Given the description of an element on the screen output the (x, y) to click on. 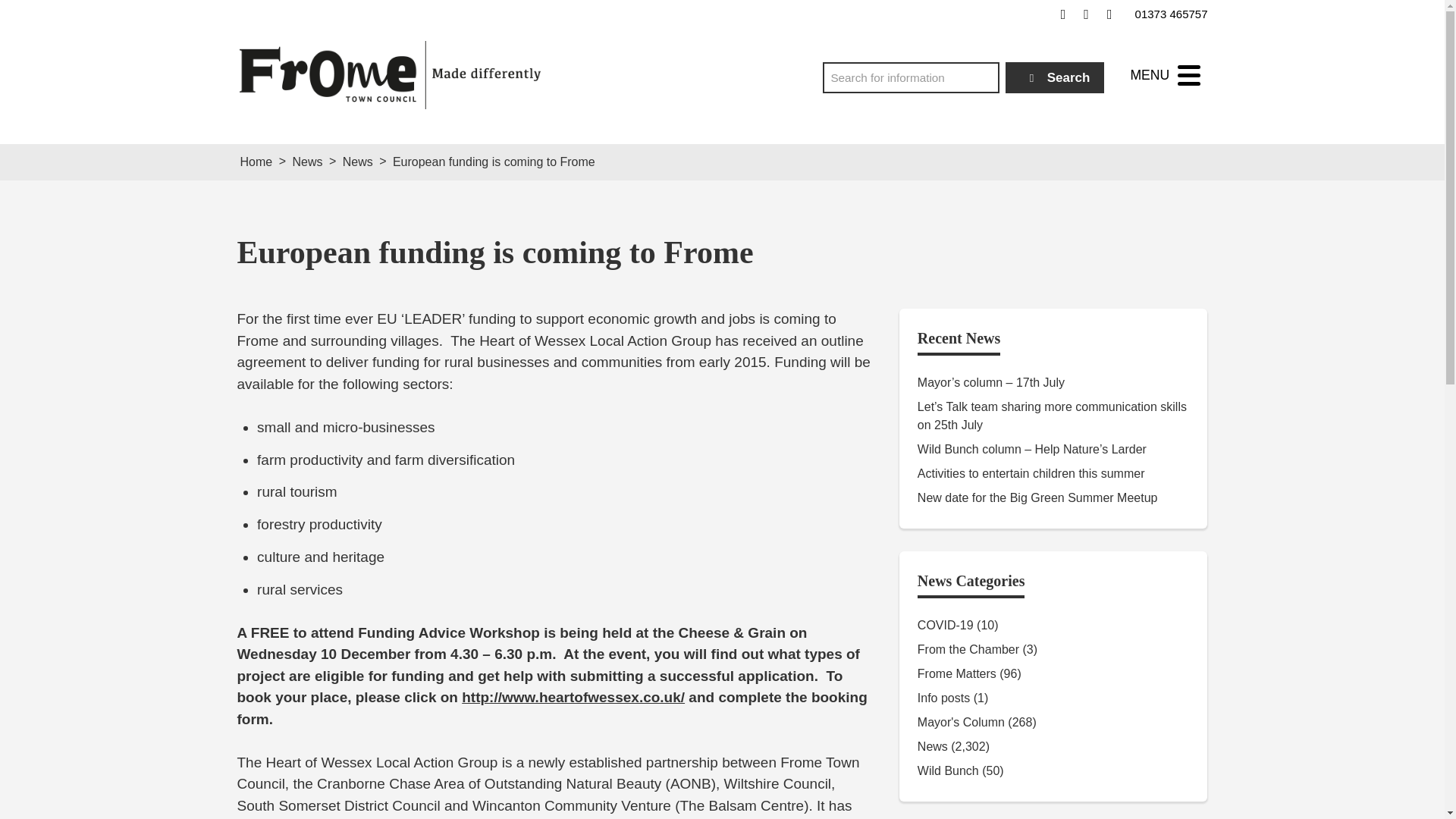
Frome Town Council's Instagram (1109, 13)
Go to Home. (256, 161)
MENU (1164, 75)
Search (1055, 77)
Go to News. (306, 161)
Frome Town Council's Twitter (1085, 13)
Go to the News Category archives. (357, 161)
Frome Town Council's Facebook (1063, 13)
